Given the description of an element on the screen output the (x, y) to click on. 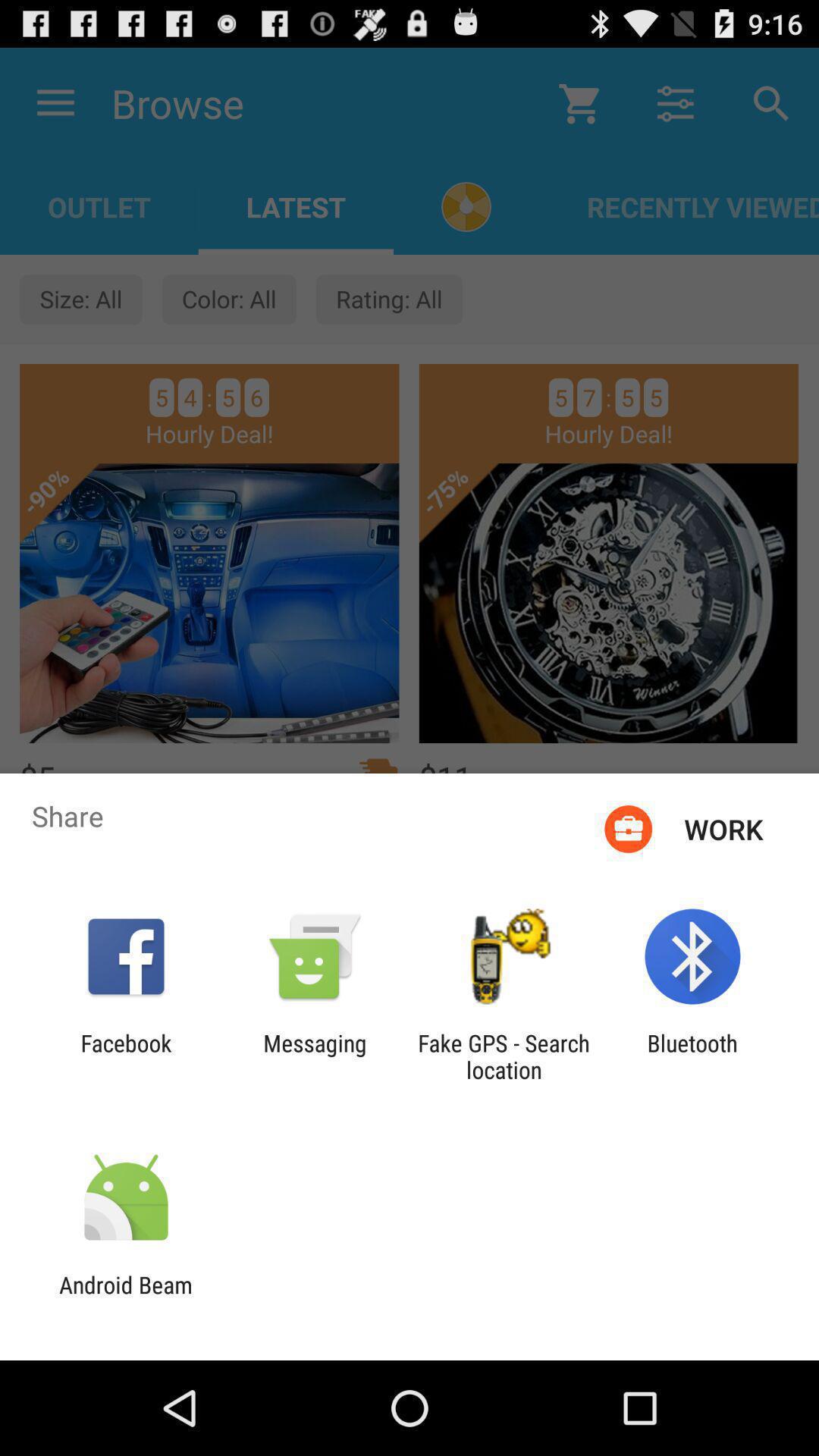
jump to android beam icon (125, 1298)
